Given the description of an element on the screen output the (x, y) to click on. 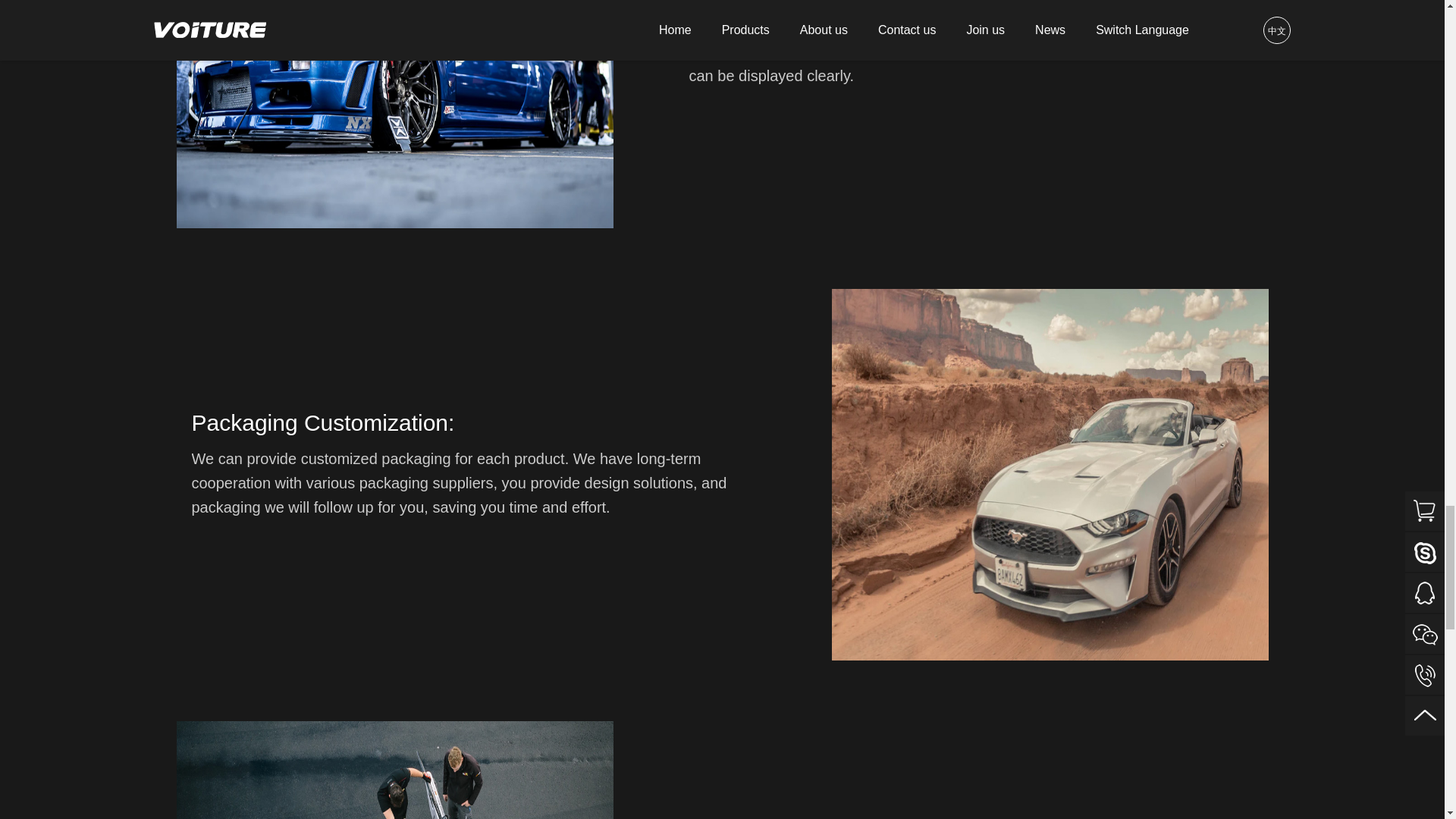
Program Development:  (394, 770)
 Logo Customization:  (394, 114)
